Given the description of an element on the screen output the (x, y) to click on. 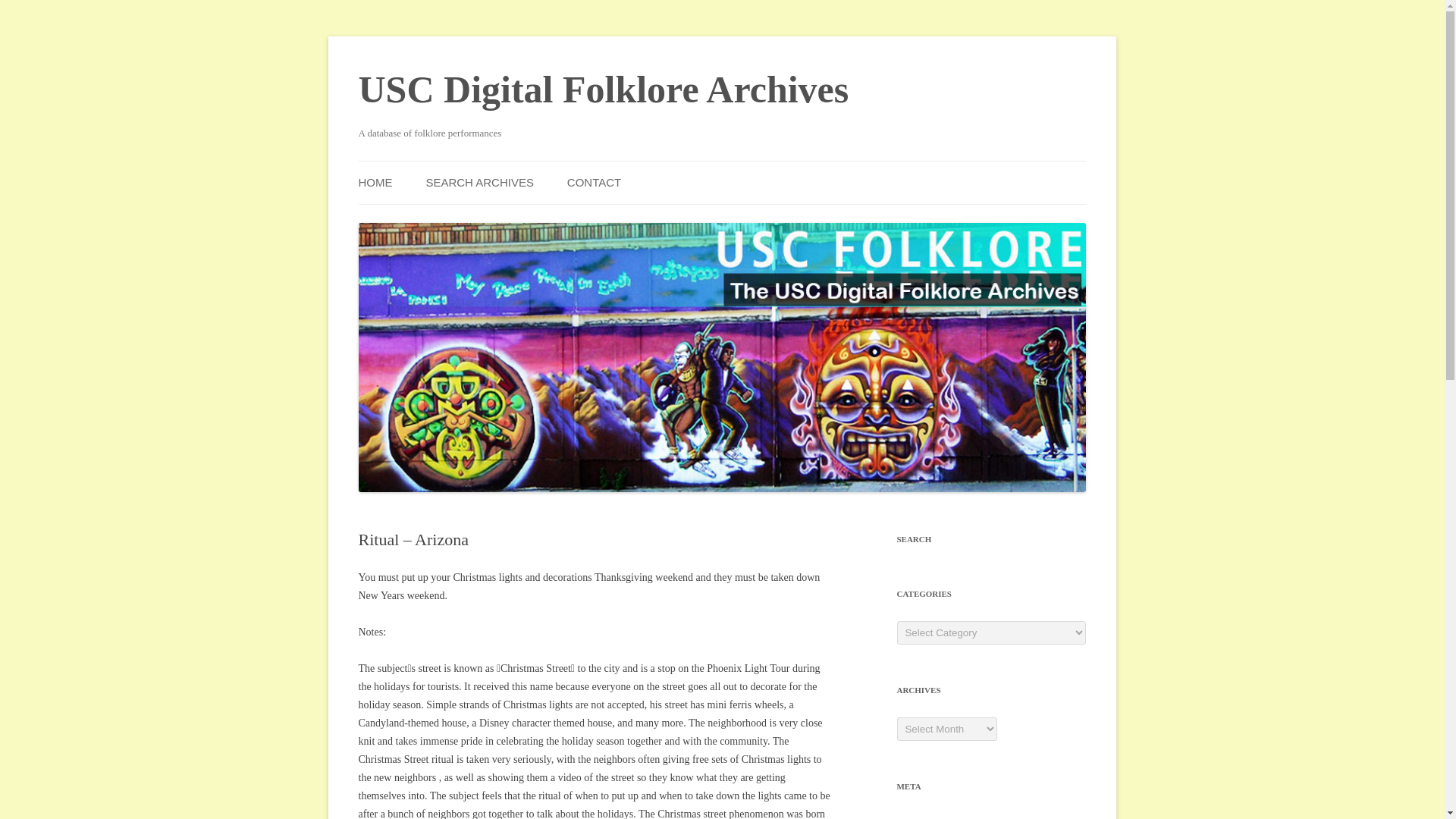
USC Digital Folklore Archives (603, 89)
HOME (374, 182)
USC Digital Folklore Archives (603, 89)
SEARCH ARCHIVES (479, 182)
Log in (909, 817)
CONTACT (594, 182)
